Given the description of an element on the screen output the (x, y) to click on. 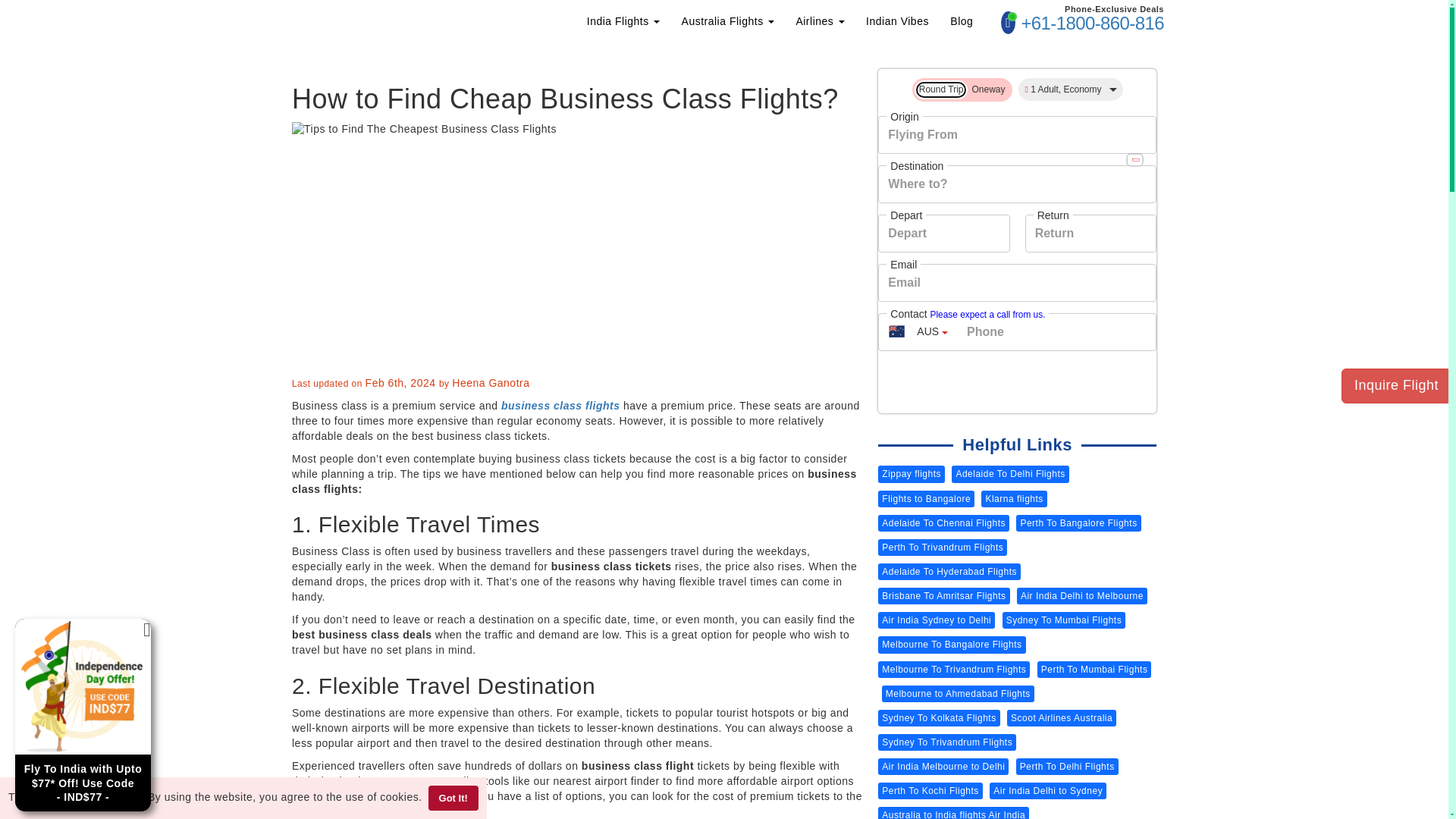
Airlines (819, 20)
Australia Flights (727, 20)
1 (976, 91)
India Flights (622, 20)
2 (923, 91)
